Given the description of an element on the screen output the (x, y) to click on. 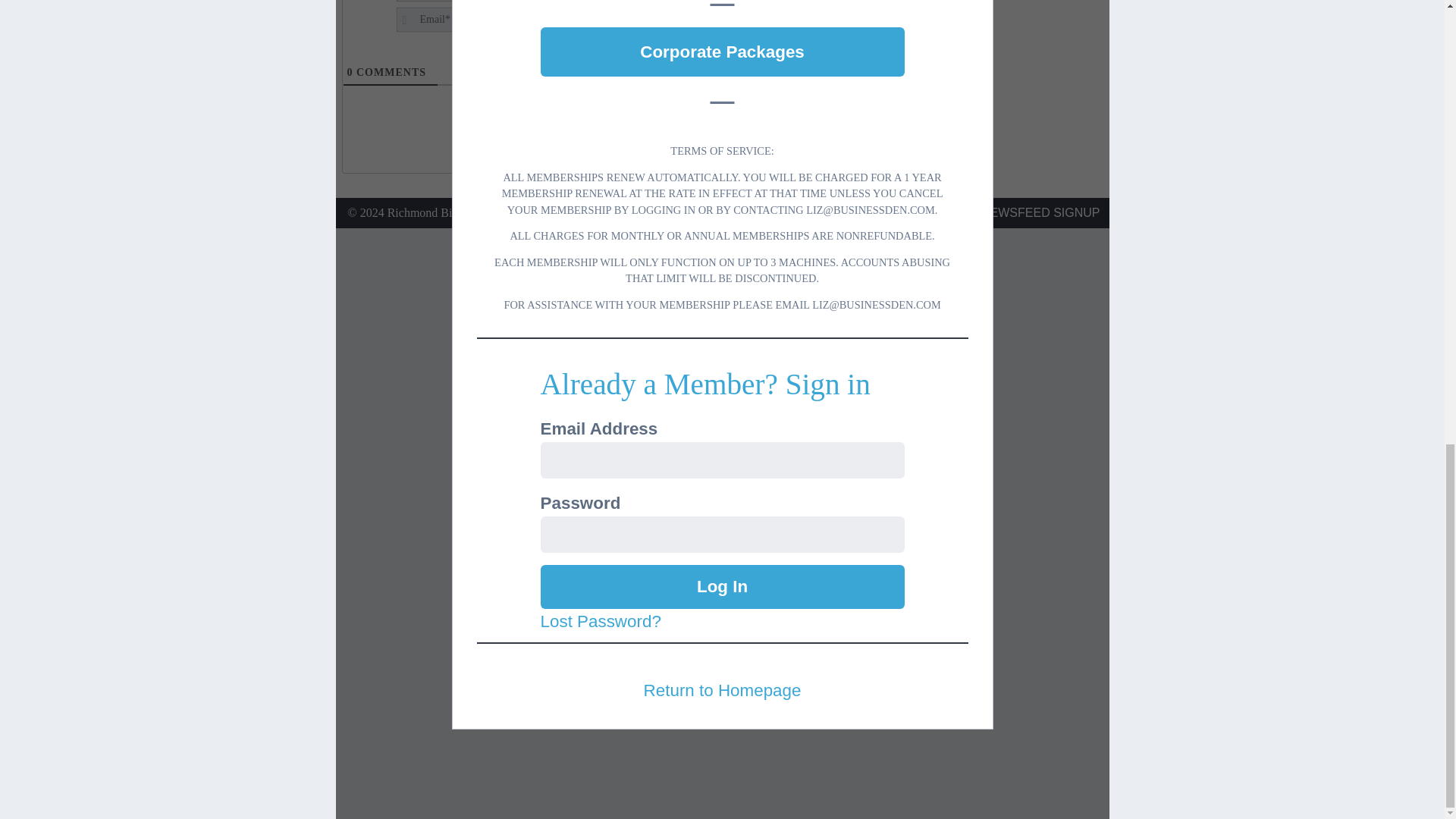
Post Comment (811, 6)
Log In (722, 587)
0 (350, 71)
